Given the description of an element on the screen output the (x, y) to click on. 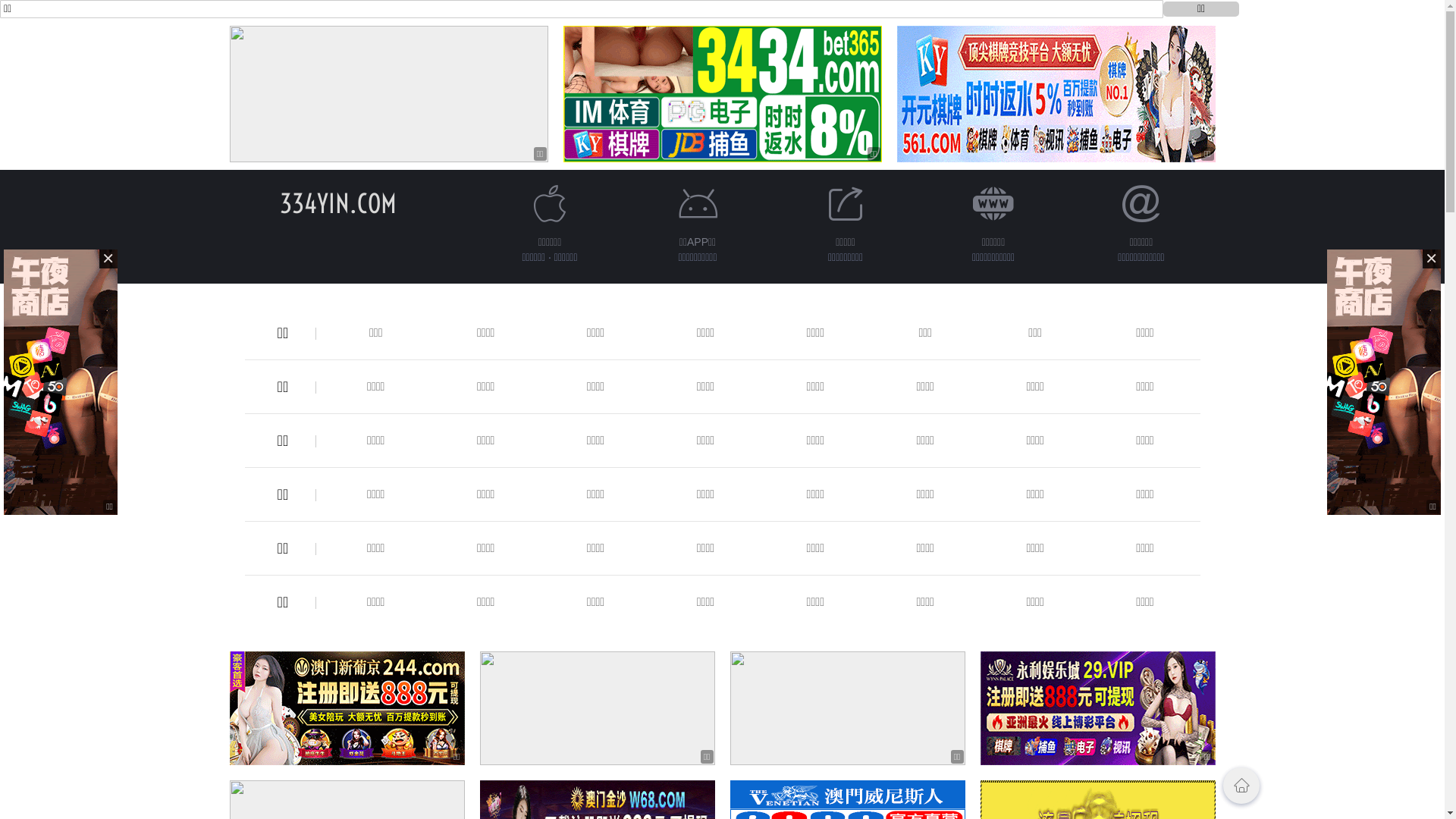
334YIN.COM Element type: text (337, 203)
